Given the description of an element on the screen output the (x, y) to click on. 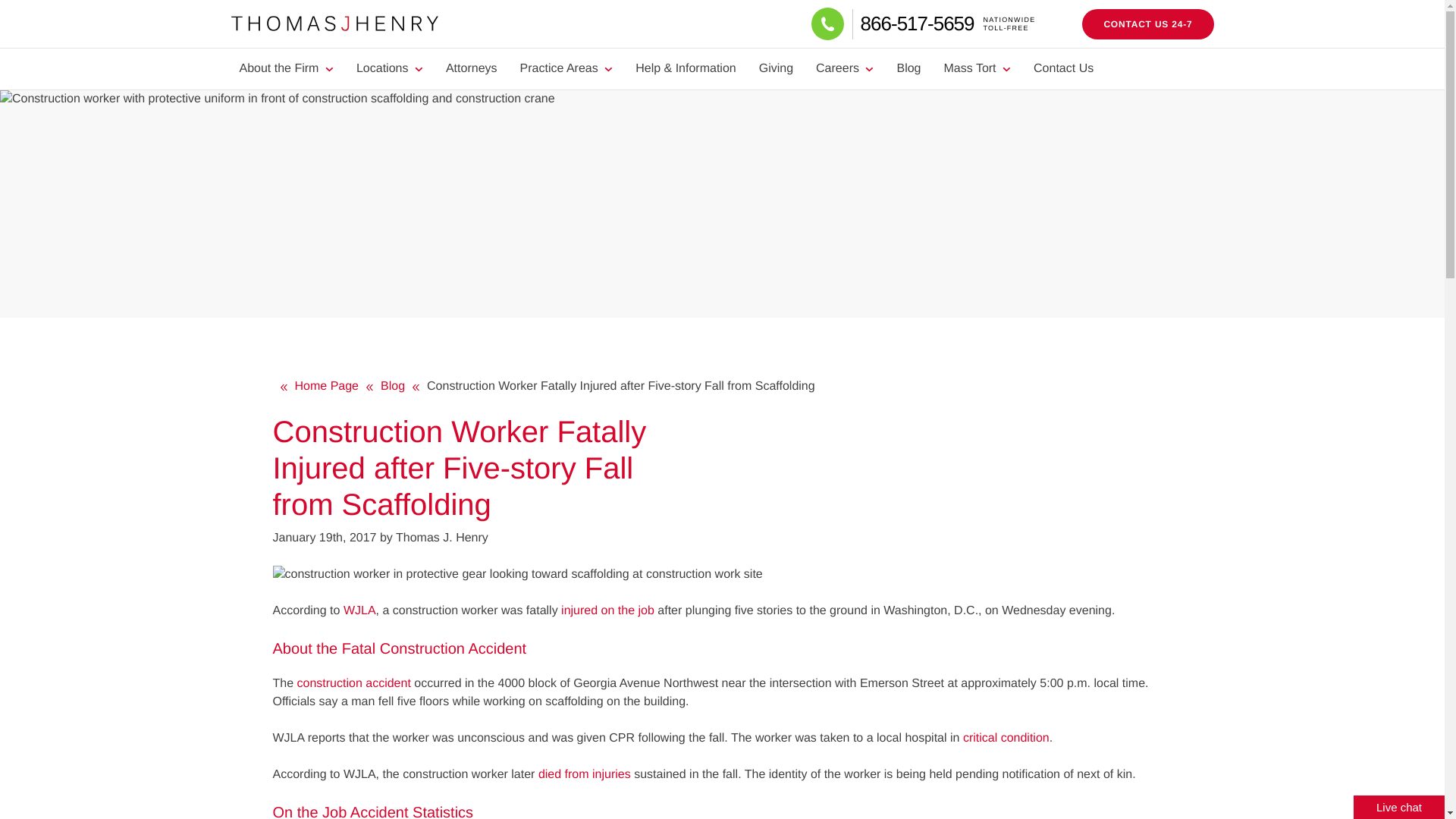
About the Firm (285, 68)
Practice Areas (566, 68)
Giving (776, 68)
CONTACT US 24-7 (946, 23)
CONTACT US 24-7 (1146, 24)
Attorneys (1146, 24)
Careers (470, 68)
Locations (845, 68)
